Given the description of an element on the screen output the (x, y) to click on. 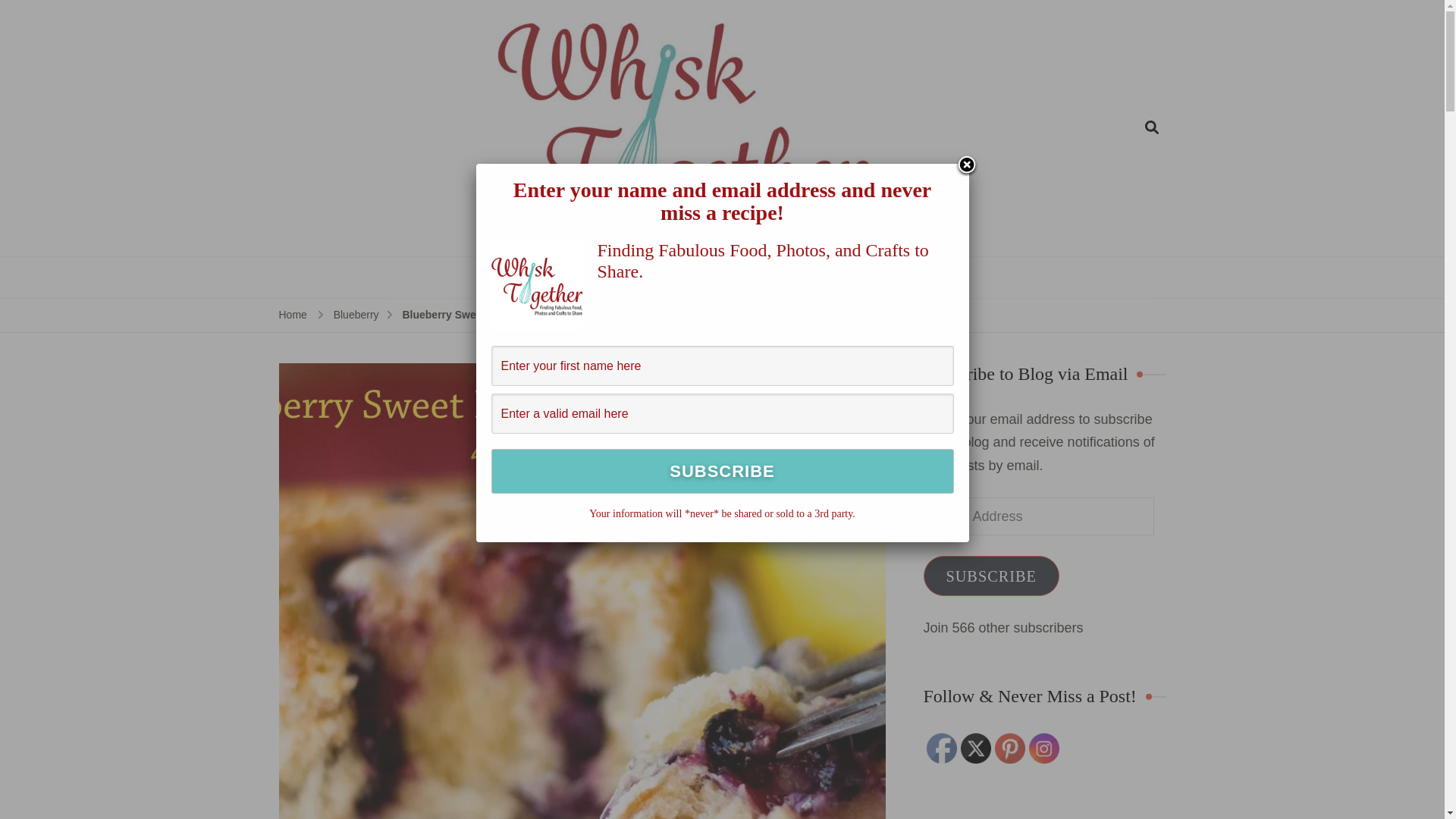
Contact (880, 277)
Crafts (638, 277)
Whisk Together (942, 244)
Blueberry (355, 315)
Free Books (723, 277)
Recipes (563, 277)
Facebook (941, 748)
Subscribe (722, 470)
About (807, 277)
Blueberry Sweet Rolls with Lemon Icing (502, 315)
Home (293, 315)
